Given the description of an element on the screen output the (x, y) to click on. 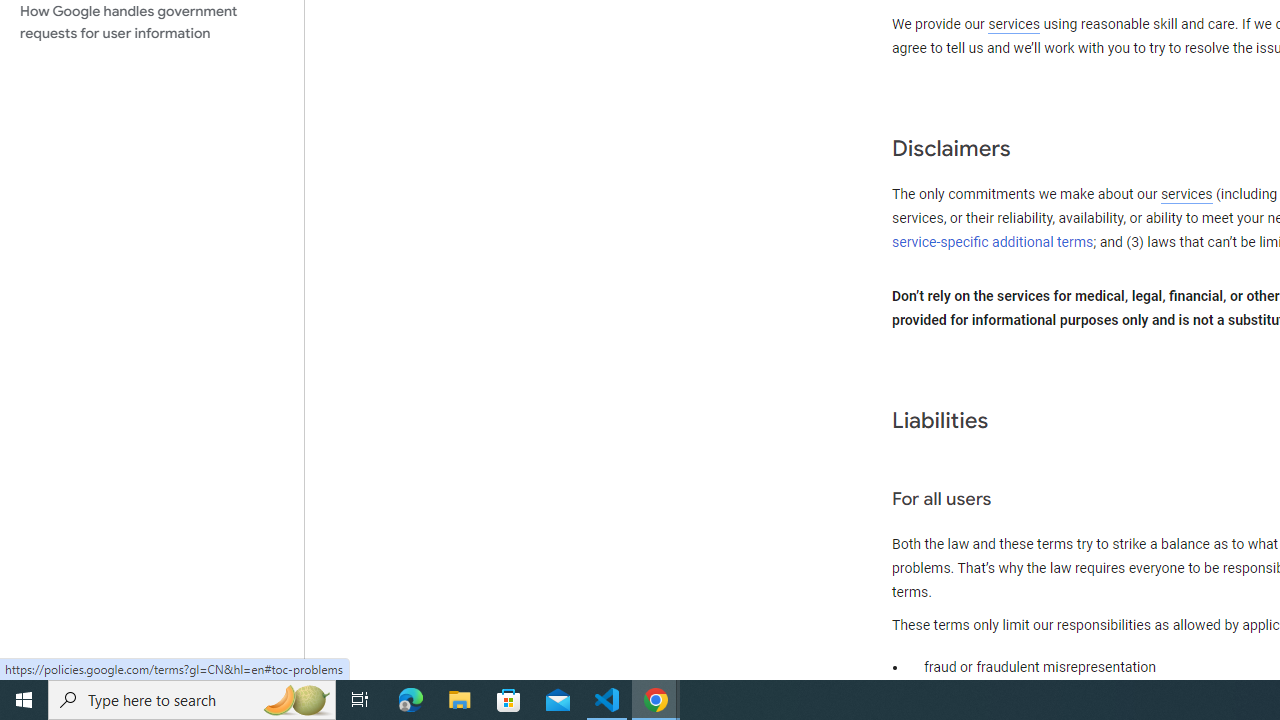
services (1186, 195)
service-specific additional terms (993, 242)
